Given the description of an element on the screen output the (x, y) to click on. 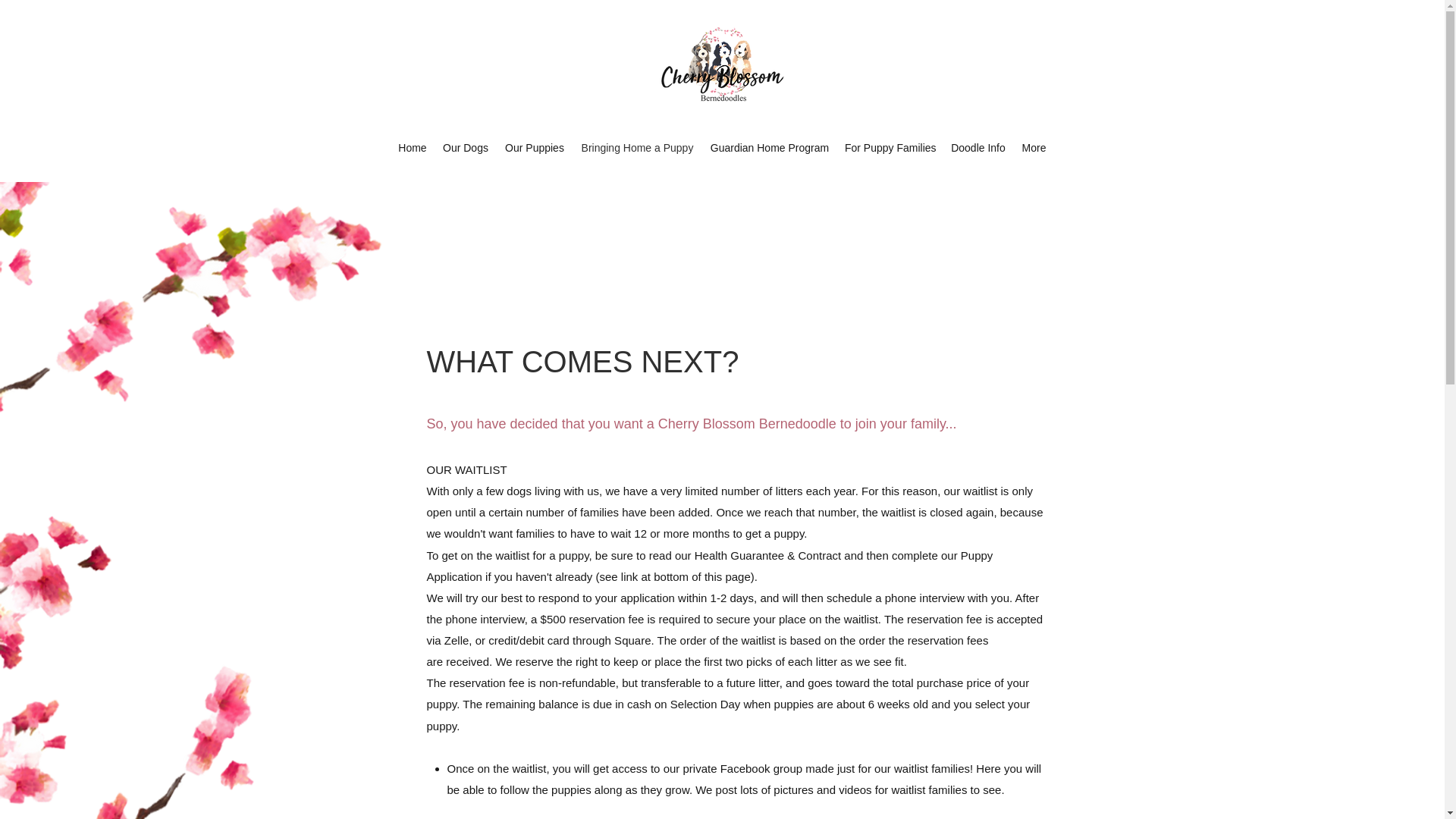
Our Dogs (464, 147)
Our Puppies (534, 147)
Guardian Home Program (769, 147)
Doodle Info (977, 147)
Bringing Home a Puppy (636, 147)
For Puppy Families (889, 147)
Home (411, 147)
